Given the description of an element on the screen output the (x, y) to click on. 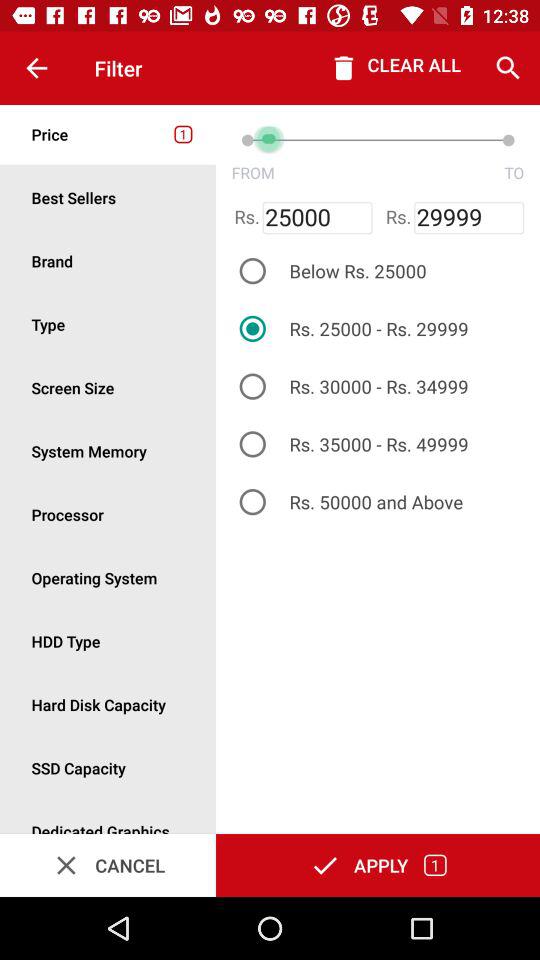
choose the icon next to the filter (36, 68)
